Given the description of an element on the screen output the (x, y) to click on. 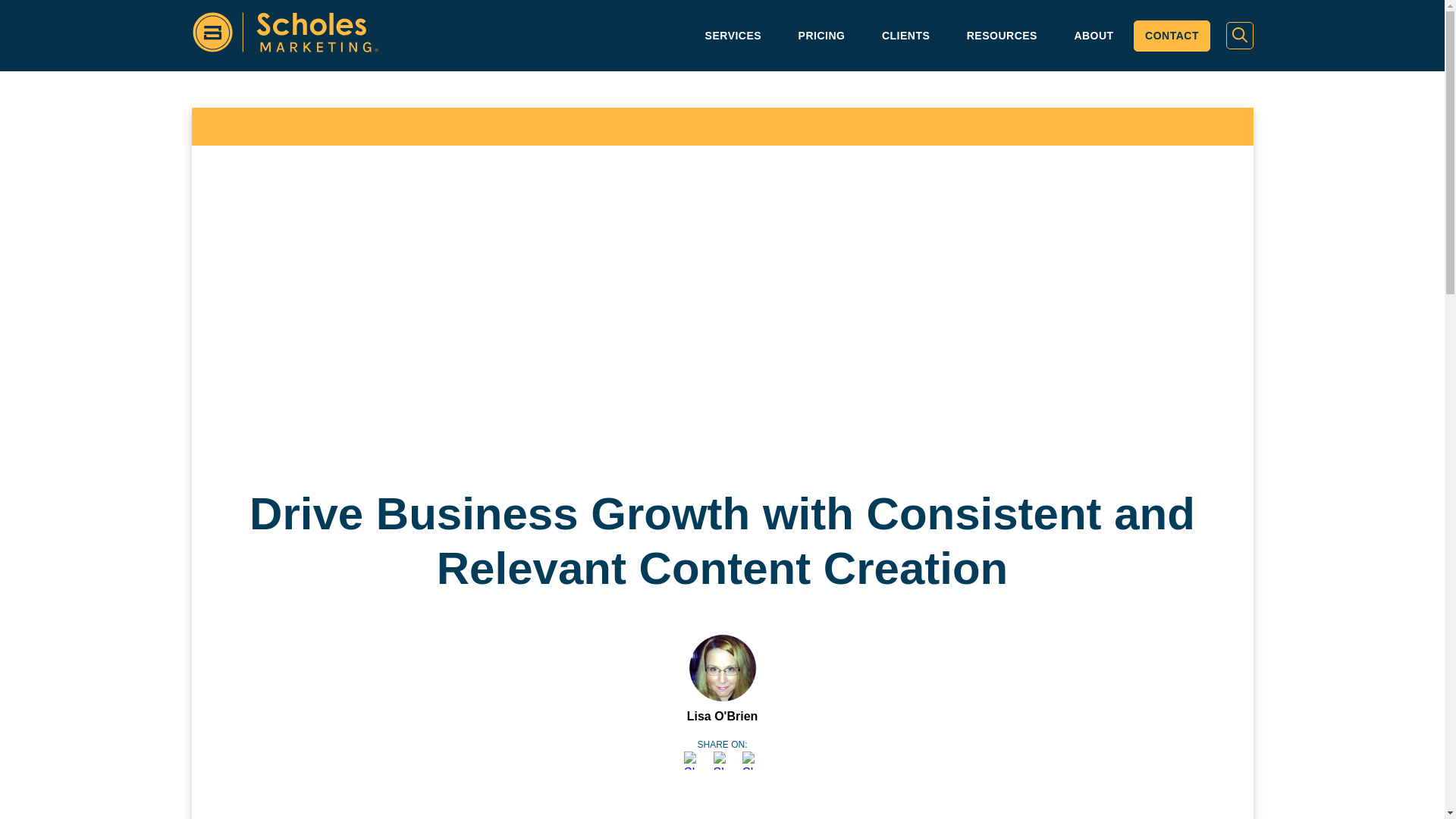
ABOUT (1093, 35)
Lisa O'Brien (722, 716)
SERVICES (733, 35)
RESOURCES (1002, 35)
CONTACT (1171, 35)
CLIENTS (905, 35)
PRICING (821, 35)
